Given the description of an element on the screen output the (x, y) to click on. 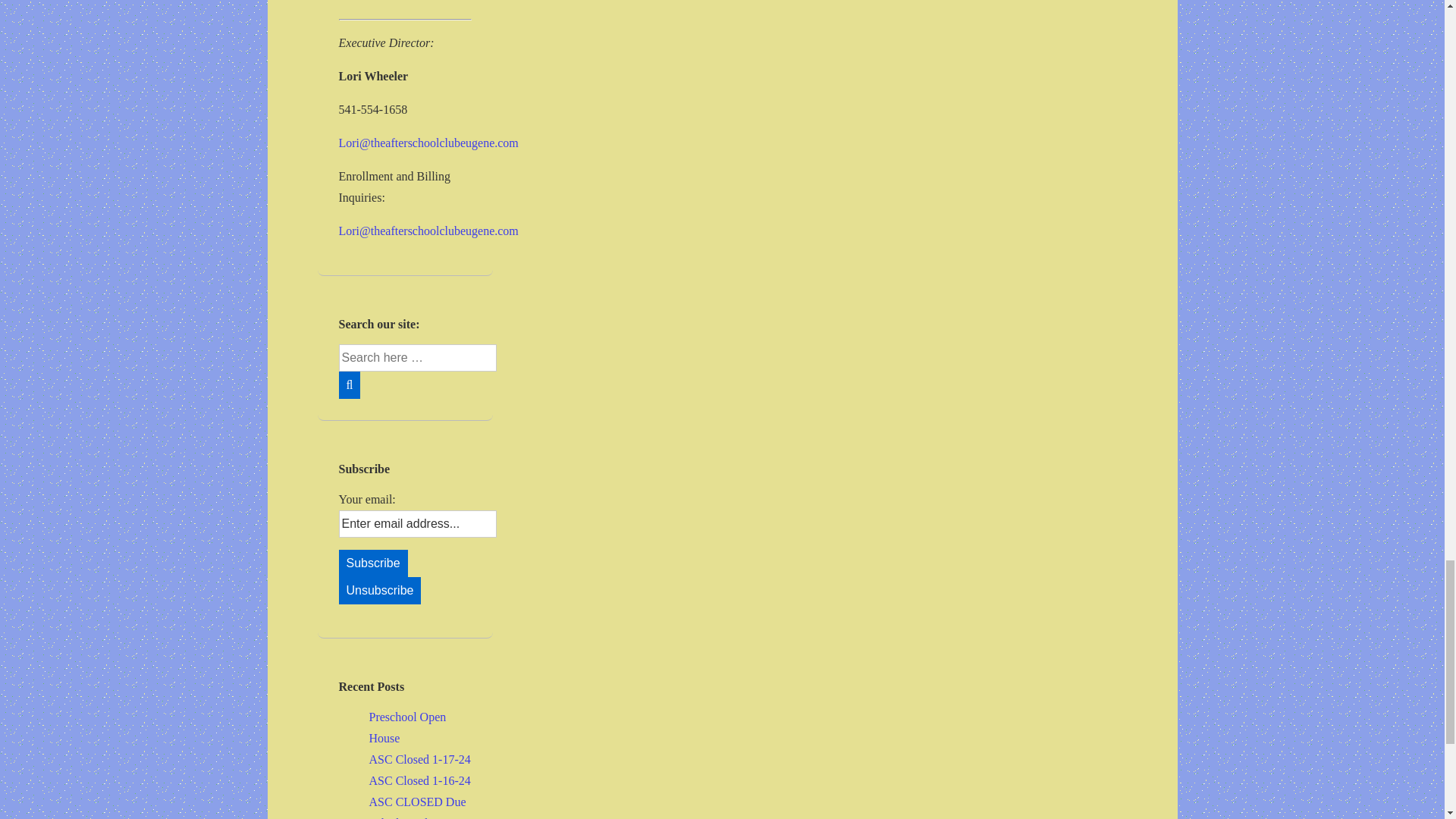
Permanent link to Preschool Open House (406, 727)
ASC CLOSED Due to bad weather (416, 807)
Unsubscribe (378, 590)
Permanent link to ASC CLOSED Due to bad weather (416, 807)
Permanent link to ASC Closed 1-17-24 (419, 758)
ASC Closed 1-17-24 (419, 758)
Subscribe (372, 563)
Enter email address... (416, 523)
Preschool Open House (406, 727)
Permanent link to ASC Closed 1-16-24 (419, 780)
